Given the description of an element on the screen output the (x, y) to click on. 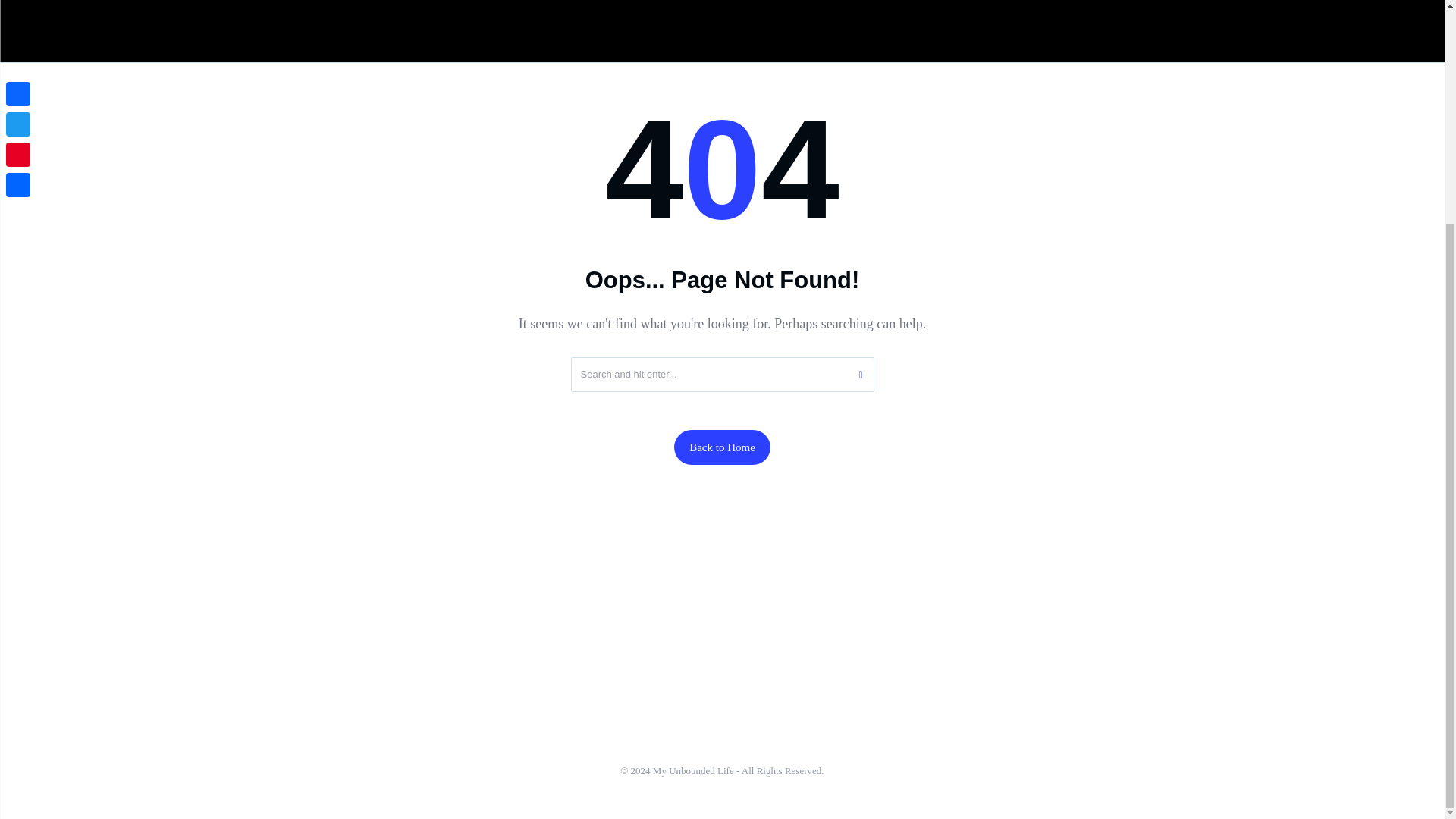
Advertisement (721, 567)
Advertisement (721, 27)
